Given the description of an element on the screen output the (x, y) to click on. 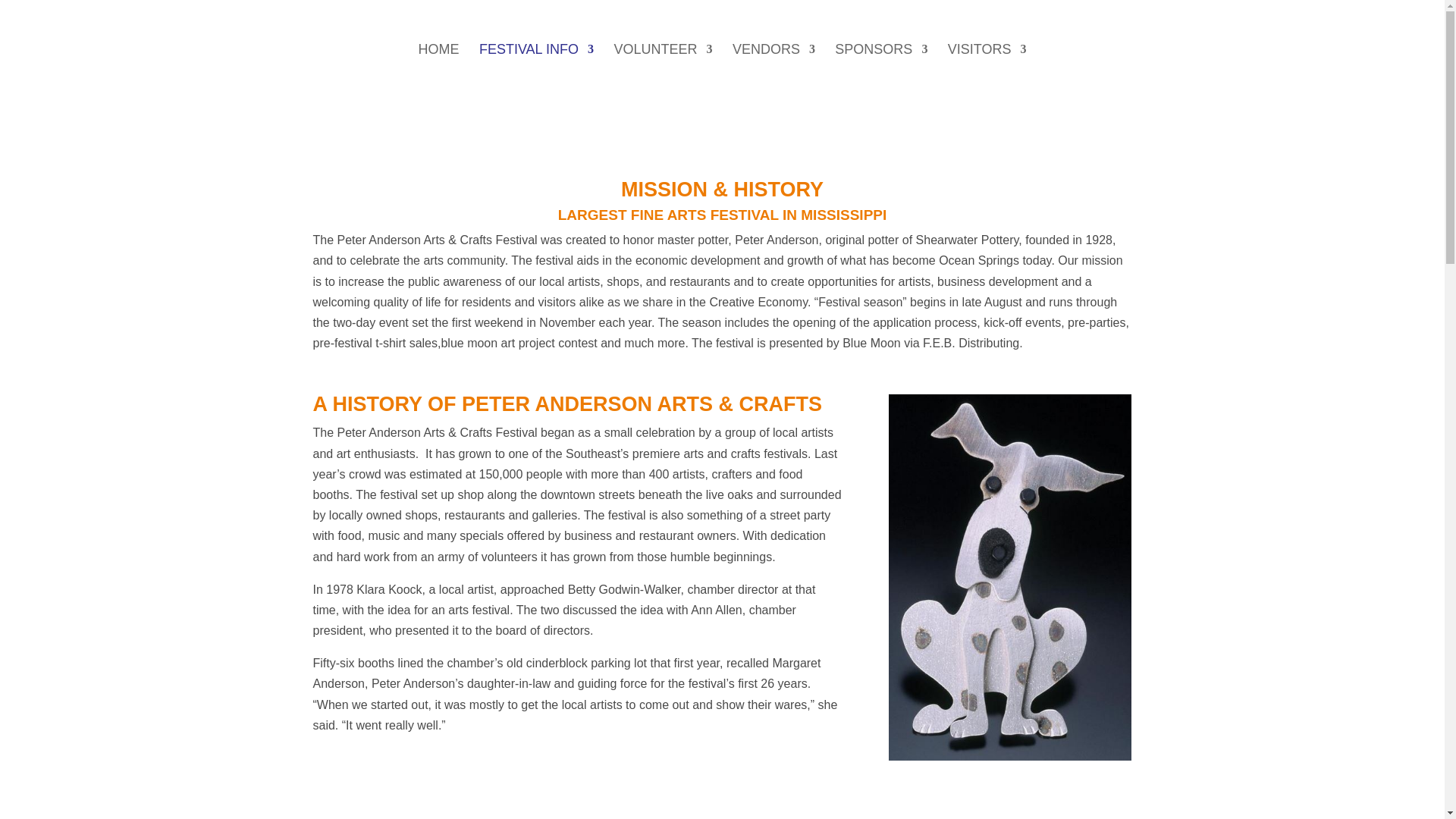
SPONSORS (880, 71)
VISITORS (986, 71)
VENDORS (773, 71)
FESTIVAL INFO (536, 71)
VOLUNTEER (661, 71)
